Given the description of an element on the screen output the (x, y) to click on. 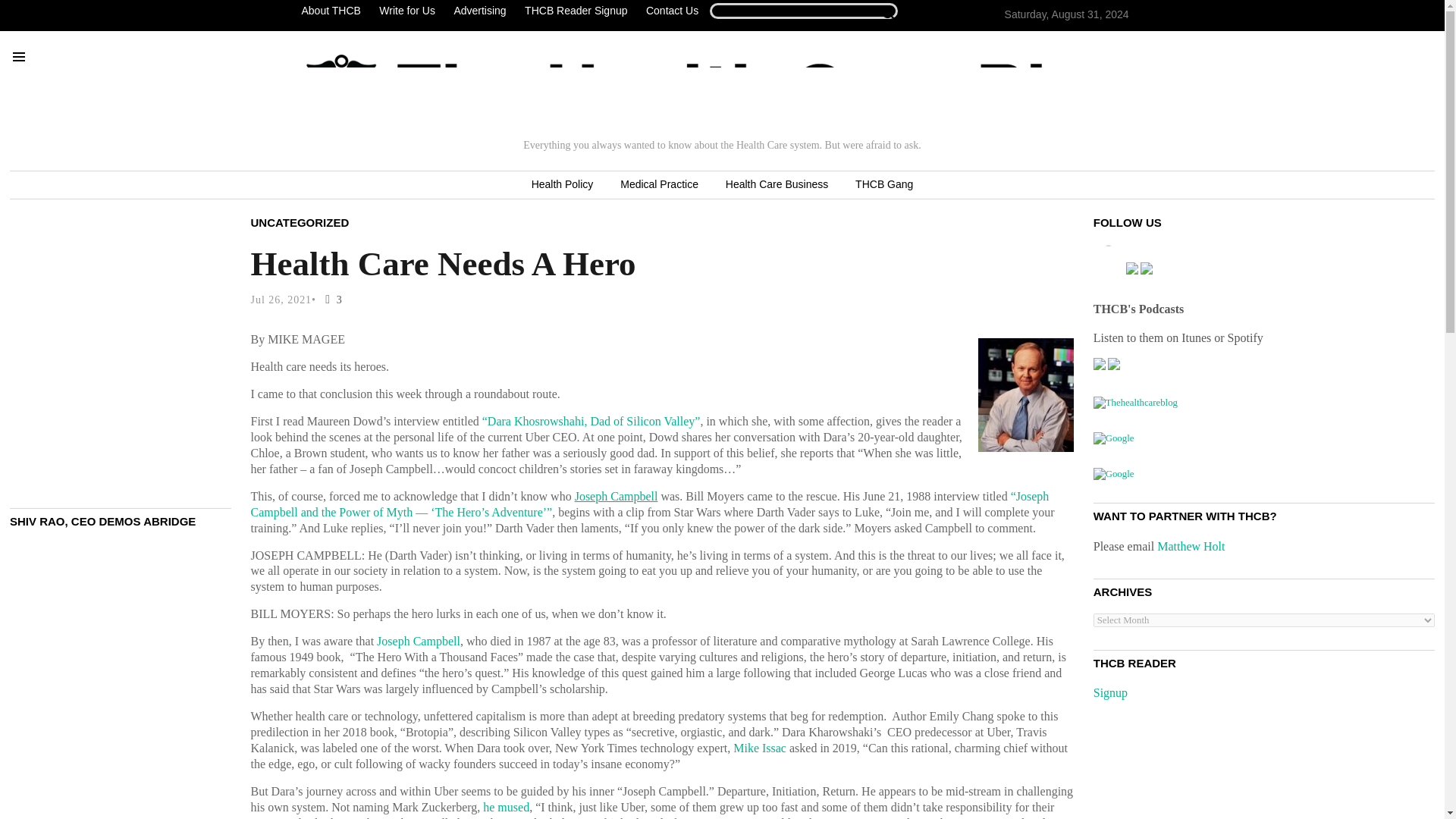
Health Policy (562, 184)
Health Care Business (776, 184)
About THCB (334, 10)
Joseph Campbell (418, 640)
Home (718, 90)
Medical Practice (659, 184)
THCB Reader Signup (575, 10)
Joseph Campbell (616, 495)
Mike Issac (759, 748)
UNCATEGORIZED (299, 221)
